Given the description of an element on the screen output the (x, y) to click on. 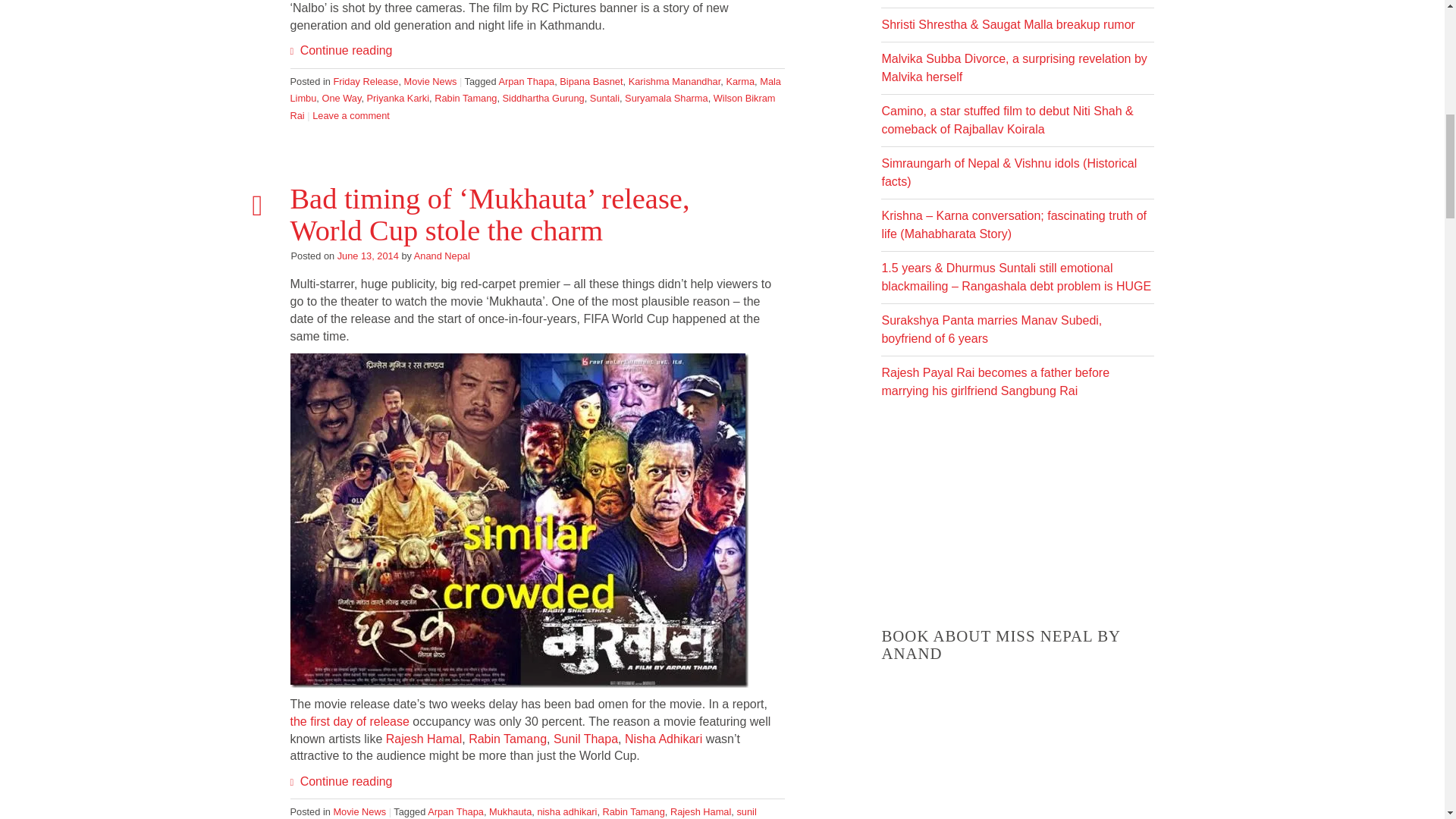
 Continue reading (340, 50)
Bipana Basnet (591, 81)
Leave a comment (351, 115)
Rajesh Hamal (423, 738)
Rabin Tamang (464, 98)
Karishma Manandhar (674, 81)
the first day of release (349, 721)
Rajesh Hamal (423, 738)
Priyanka Karki (397, 98)
One Way (341, 98)
Anand Nepal (441, 255)
Siddhartha Gurung (543, 98)
Friday Release (365, 81)
Mala Limbu (534, 90)
